Given the description of an element on the screen output the (x, y) to click on. 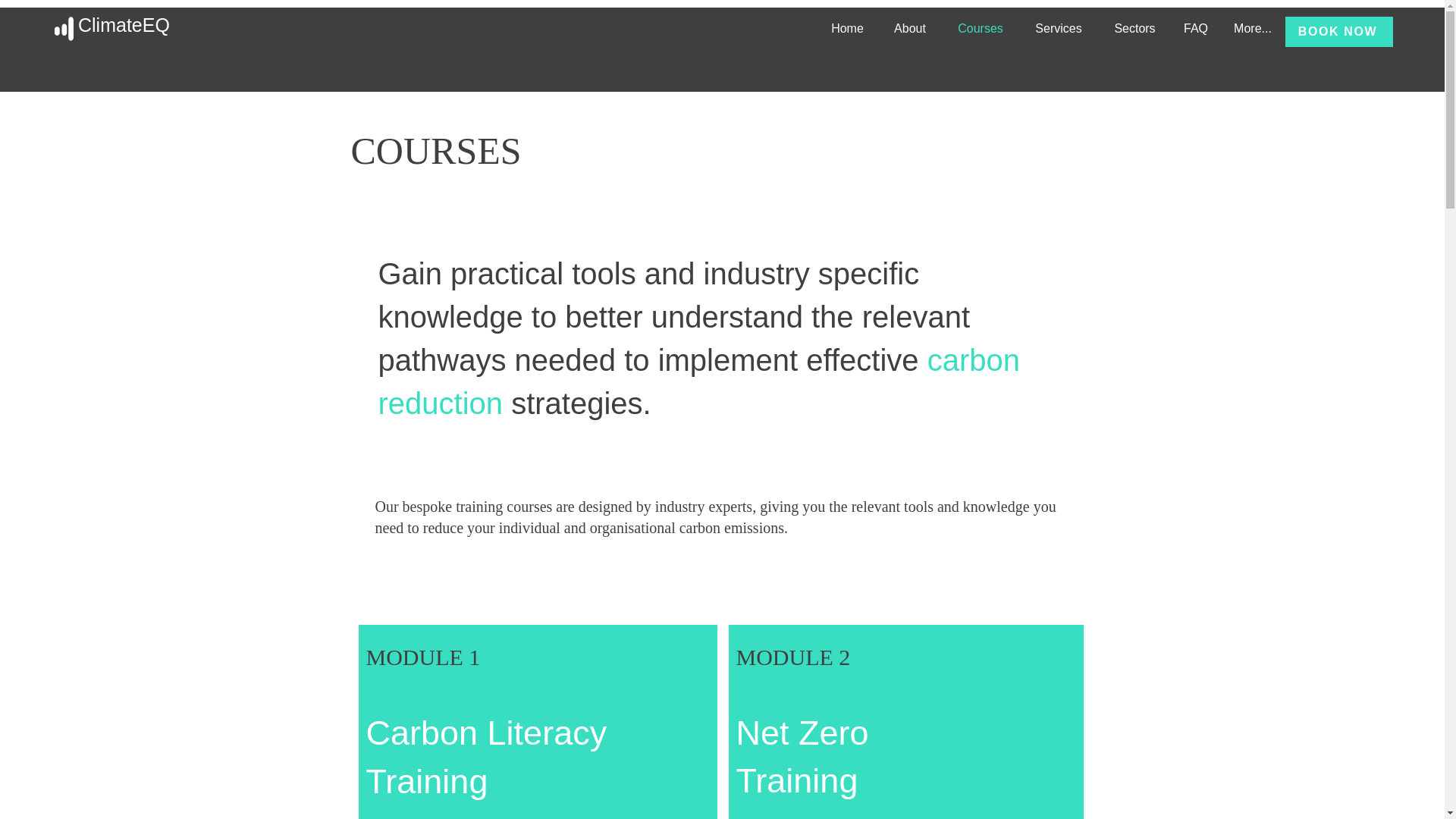
FAQ (1196, 28)
BOOK NOW (1339, 31)
Home (846, 28)
ClimateEQ (124, 25)
Courses (980, 28)
Sectors (1134, 28)
Log In (1343, 28)
About (909, 28)
Services (1058, 28)
